Given the description of an element on the screen output the (x, y) to click on. 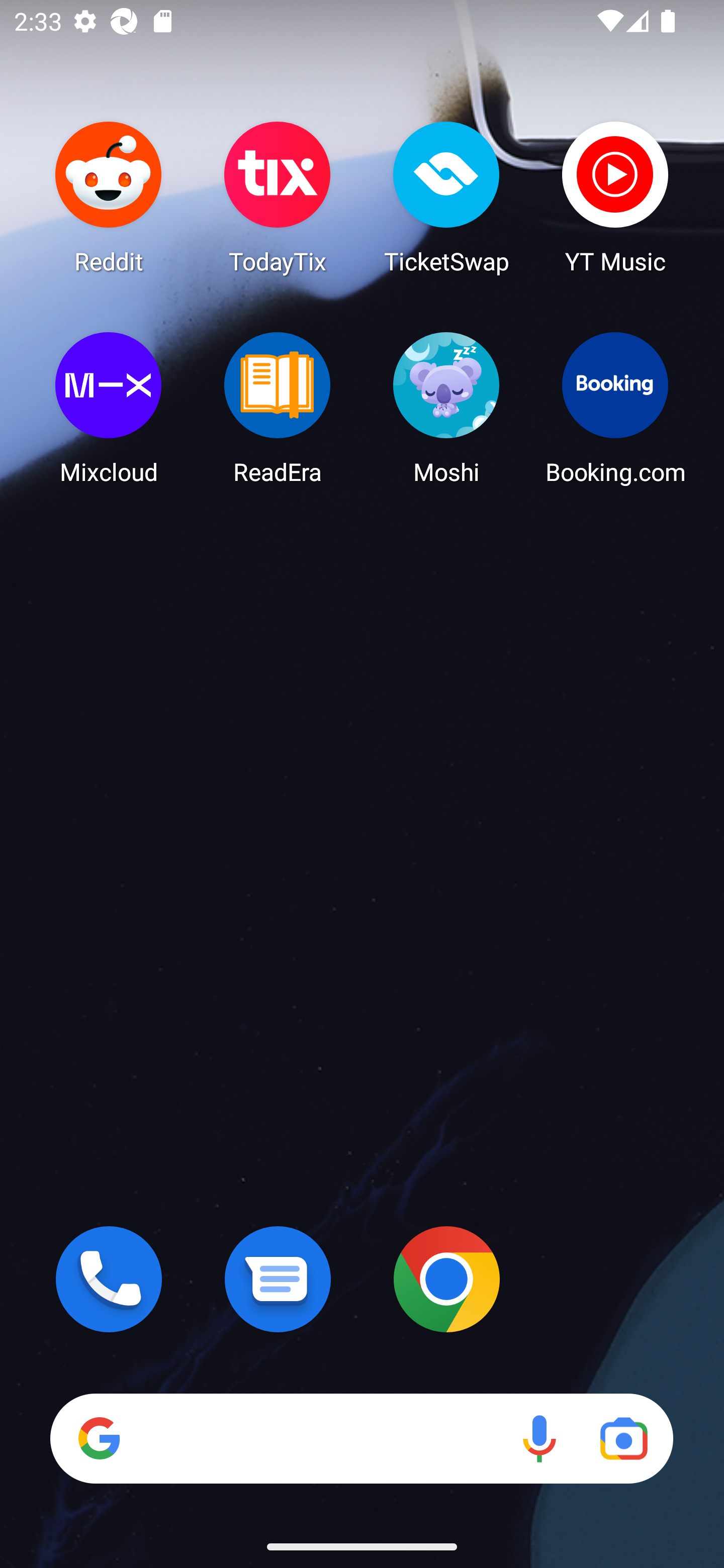
Reddit (108, 196)
TodayTix (277, 196)
TicketSwap (445, 196)
YT Music (615, 196)
Mixcloud (108, 407)
ReadEra (277, 407)
Moshi (445, 407)
Booking.com (615, 407)
Phone (108, 1279)
Messages (277, 1279)
Chrome (446, 1279)
Search Voice search Google Lens (361, 1438)
Voice search (539, 1438)
Google Lens (623, 1438)
